Given the description of an element on the screen output the (x, y) to click on. 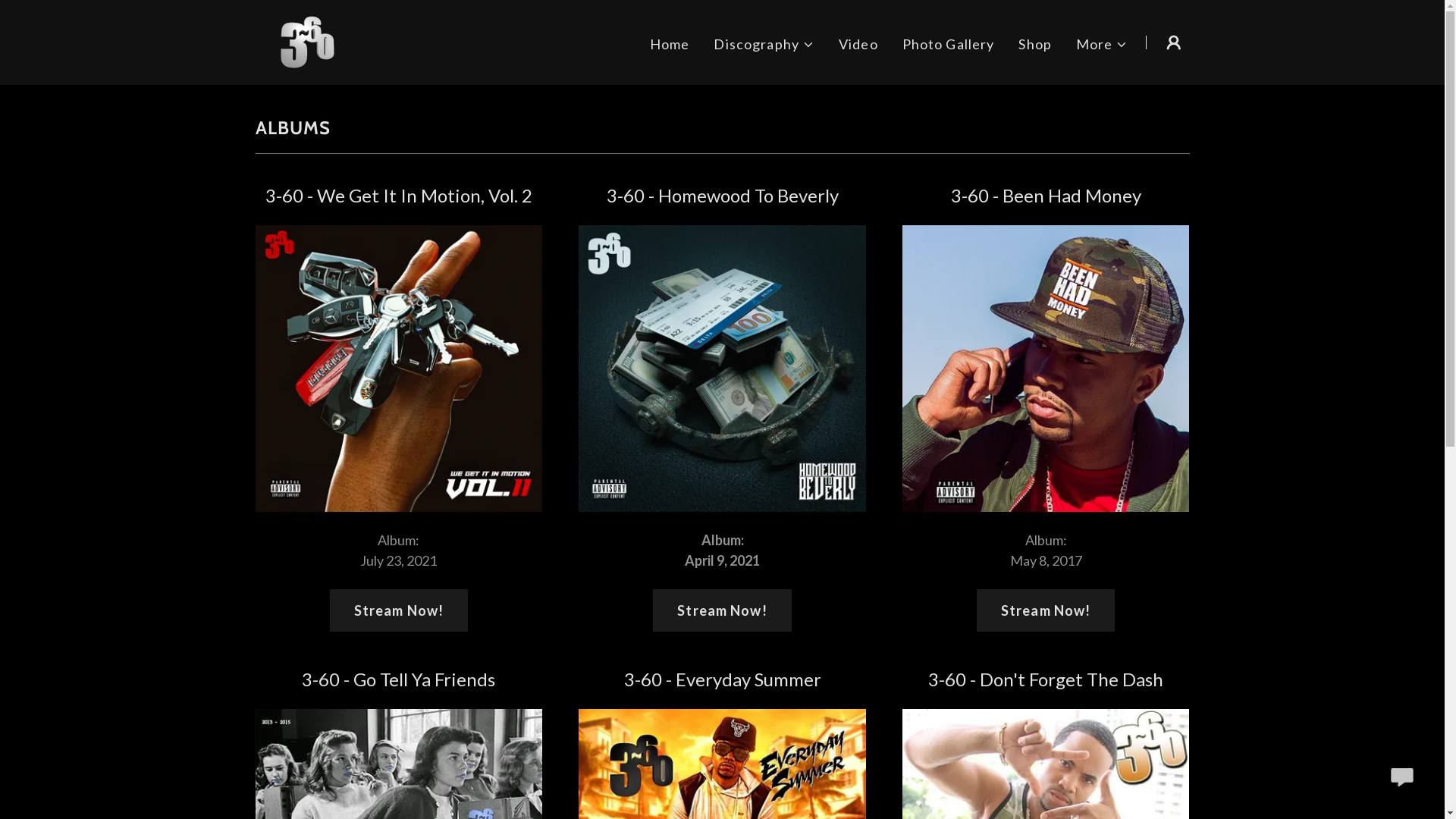
Discography Element type: text (763, 44)
Video Element type: text (858, 44)
Stream Now! Element type: text (1045, 610)
Stream Now! Element type: text (721, 610)
Photo Gallery Element type: text (948, 44)
3-60Music.com Element type: hover (308, 40)
Home Element type: text (669, 44)
Shop Element type: text (1034, 44)
More Element type: text (1102, 44)
Stream Now! Element type: text (398, 610)
